Given the description of an element on the screen output the (x, y) to click on. 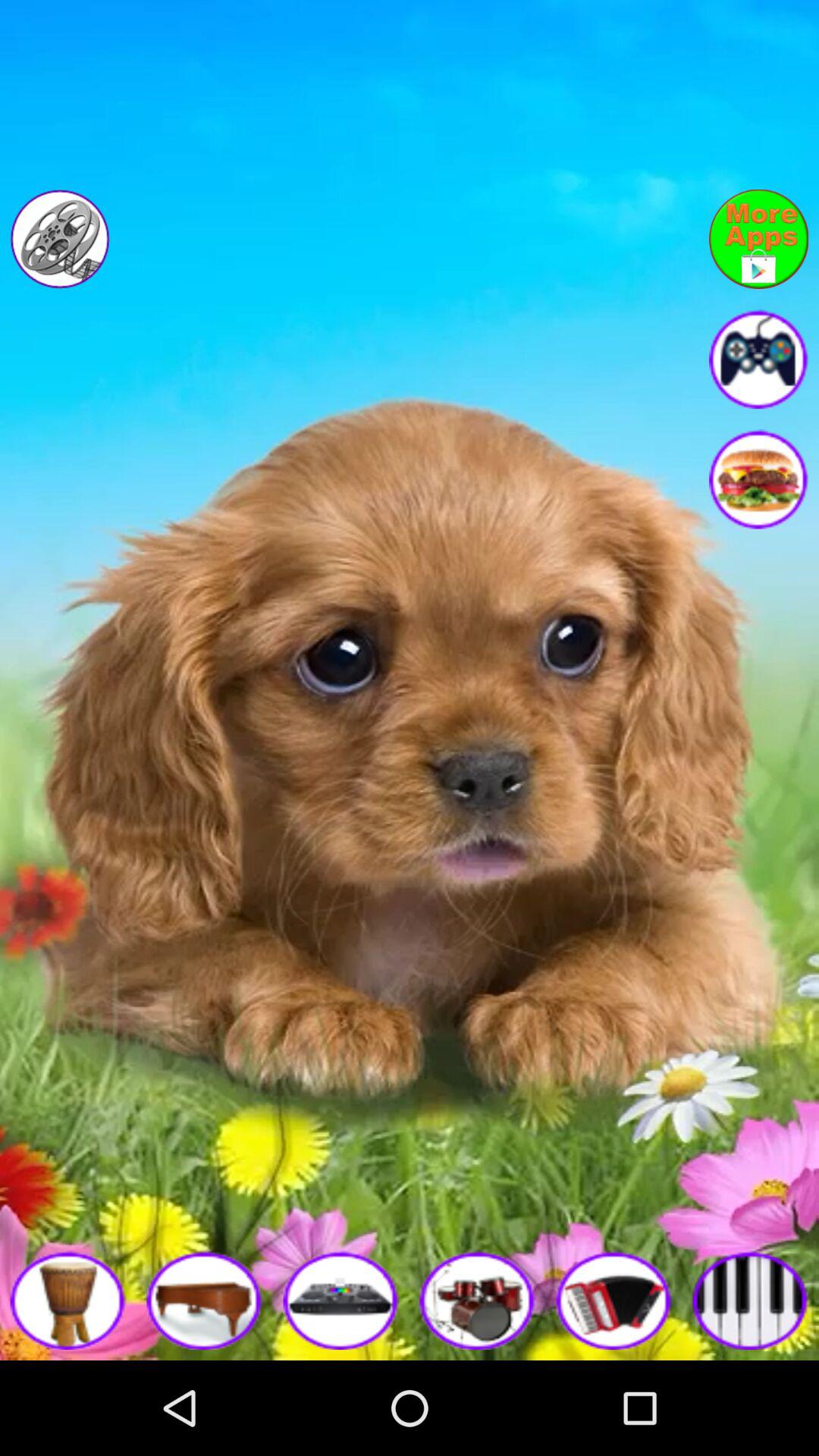
play games (758, 358)
